Given the description of an element on the screen output the (x, y) to click on. 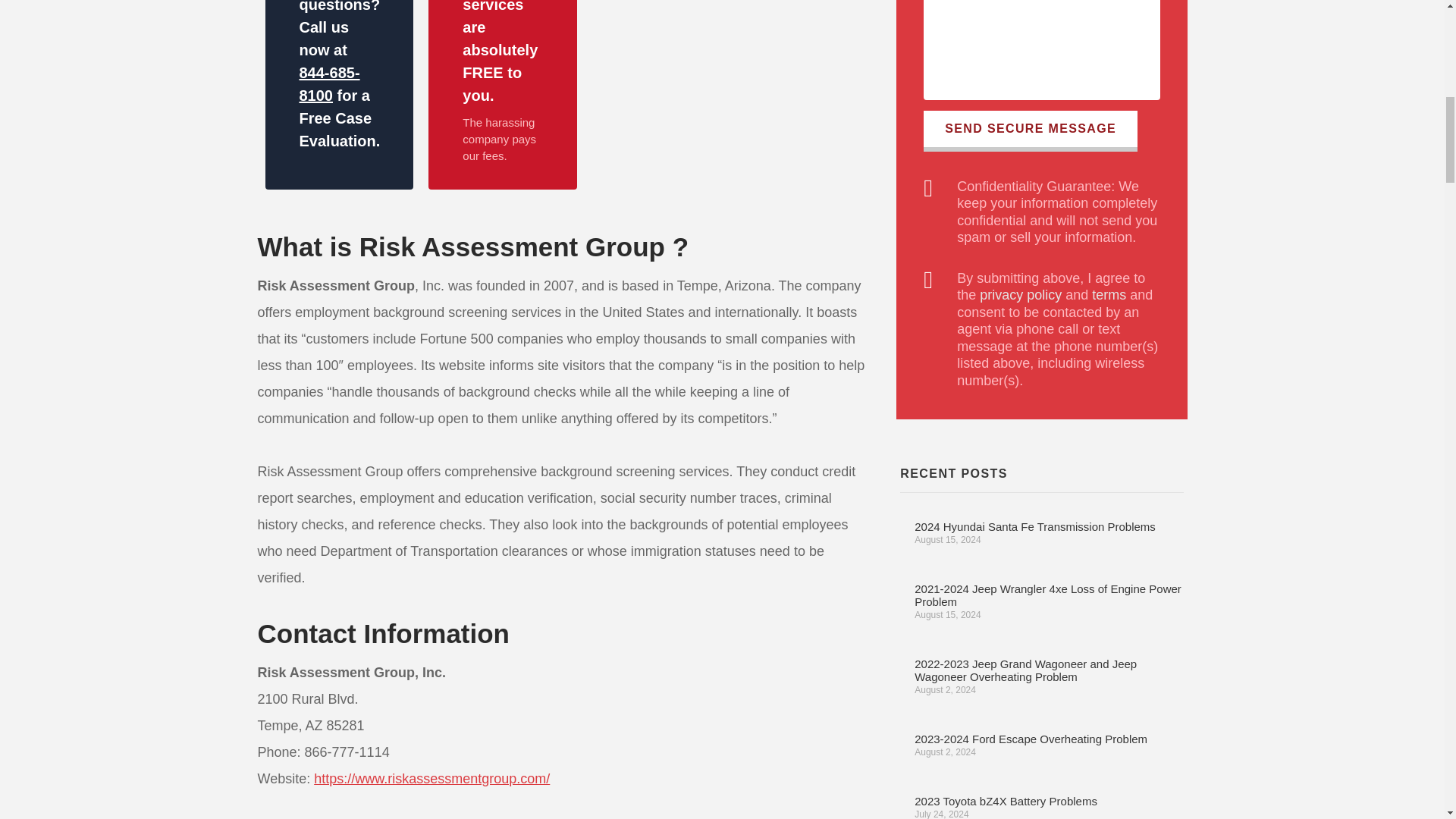
2021-2024 Jeep Wrangler 4xe Loss of Engine Power Problem (1047, 595)
2023 Toyota bZ4X Battery Problems (1005, 800)
2023-2024 Ford Escape Overheating Problem (1030, 738)
SEND SECURE MESSAGE (1030, 130)
privacy policy (1020, 294)
SEND SECURE MESSAGE (1030, 130)
terms (1108, 294)
2024 Hyundai Santa Fe Transmission Problems (1035, 526)
844-685-8100 (328, 84)
